Given the description of an element on the screen output the (x, y) to click on. 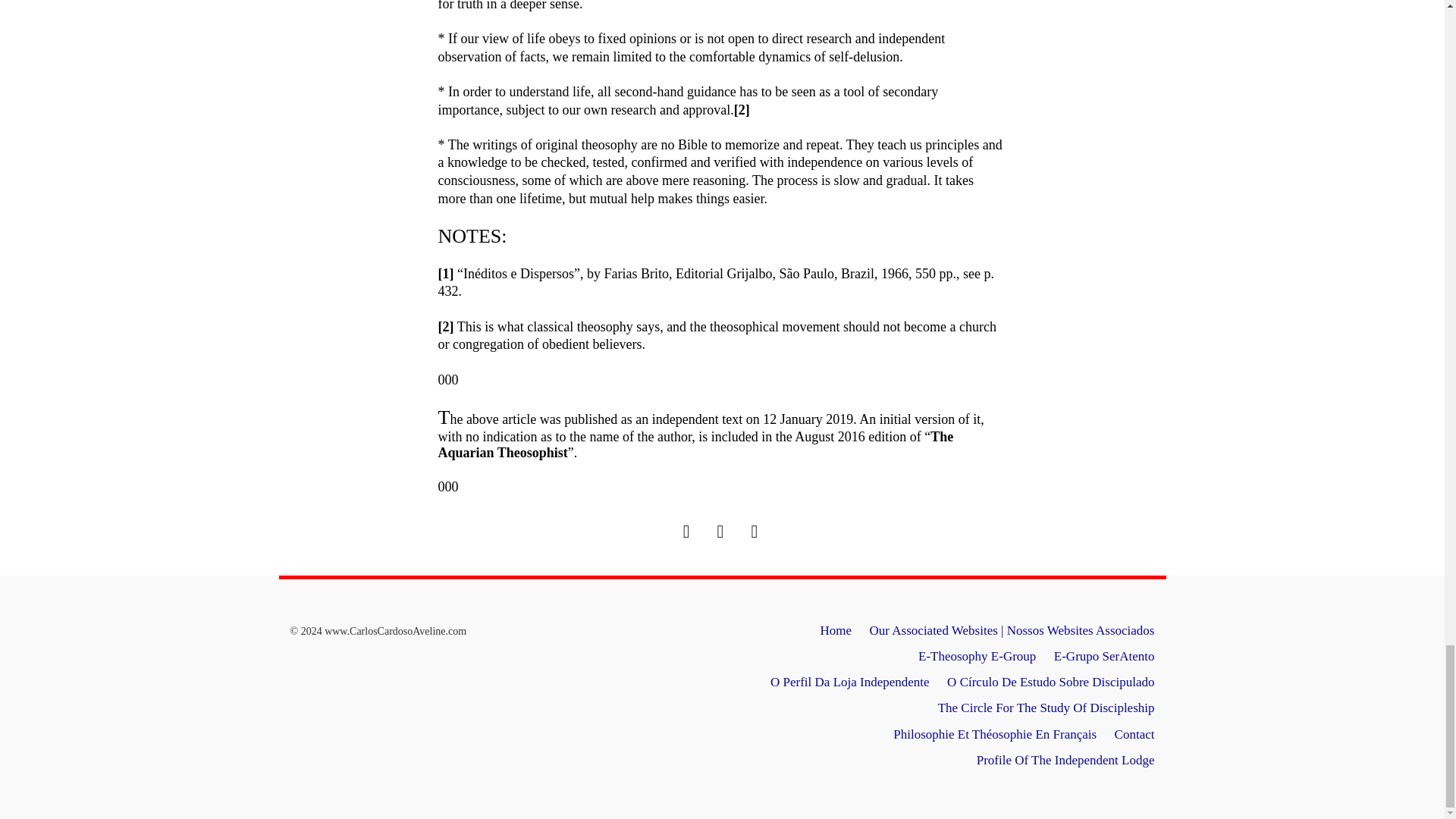
E-Theosophy E-Group (976, 656)
Home (836, 630)
E-Grupo SerAtento (1104, 656)
O Perfil Da Loja Independente (850, 681)
